Given the description of an element on the screen output the (x, y) to click on. 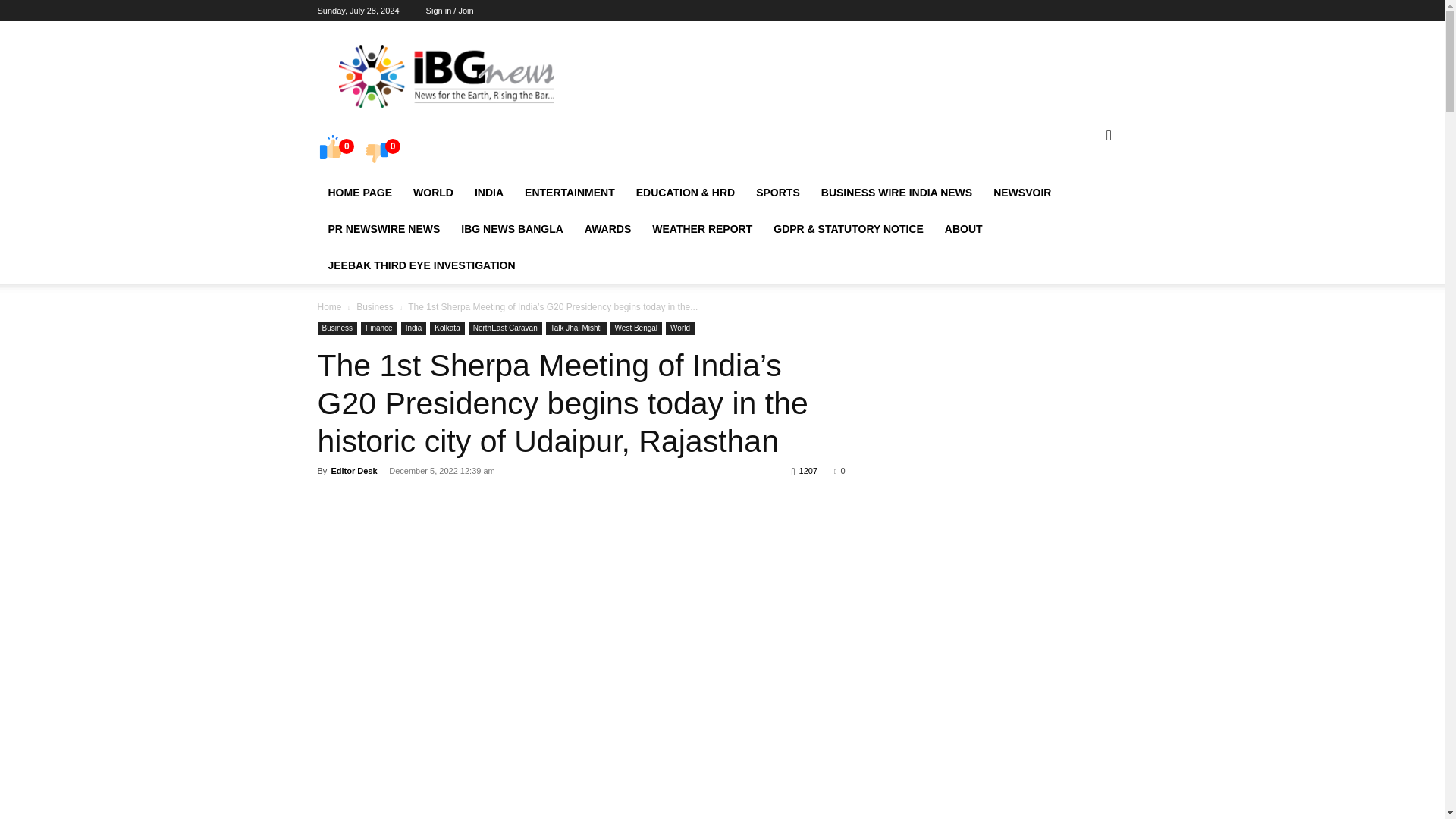
International Broadcasting of Global News (445, 76)
